Given the description of an element on the screen output the (x, y) to click on. 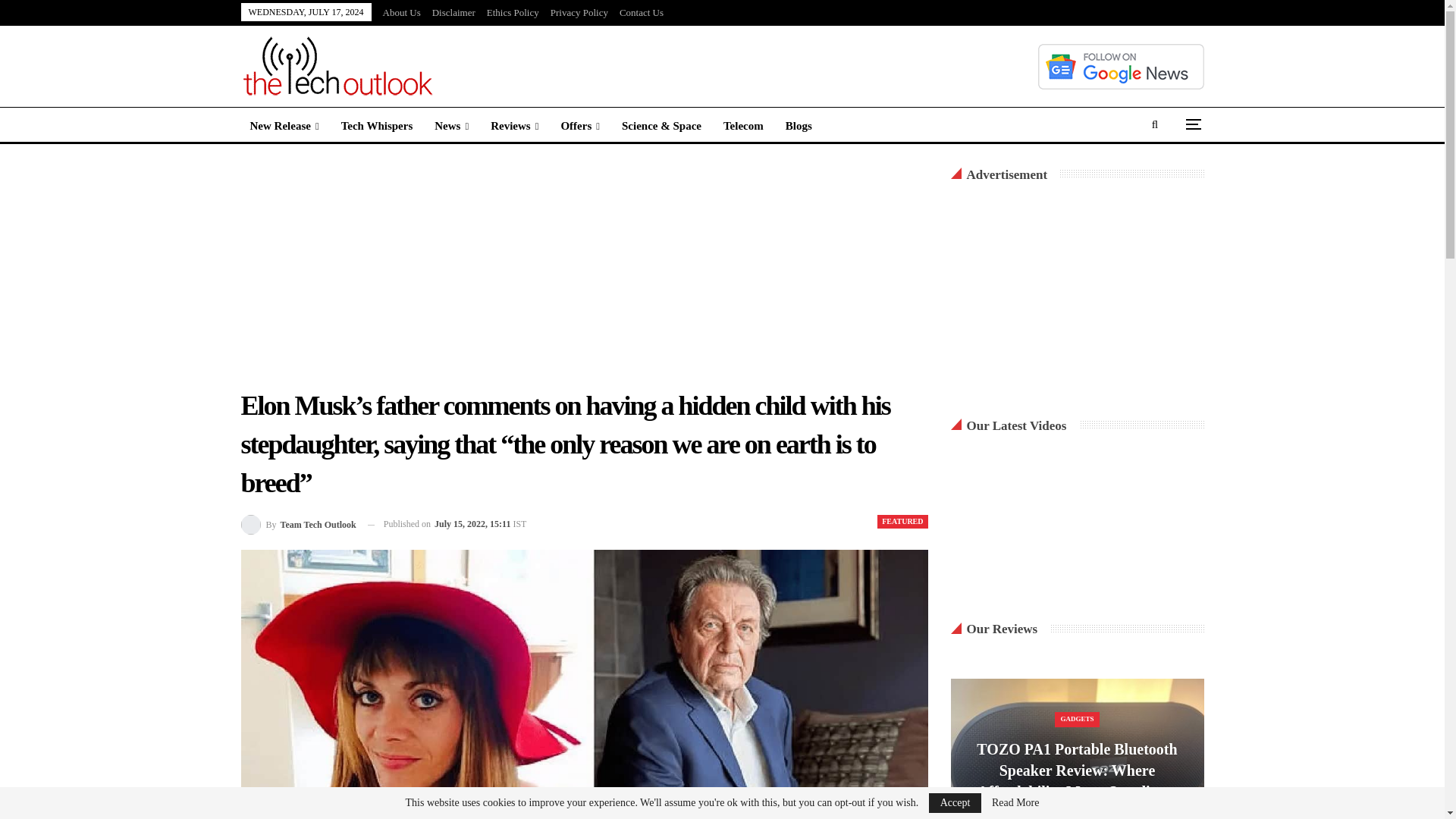
Browse Author Articles (298, 524)
